Given the description of an element on the screen output the (x, y) to click on. 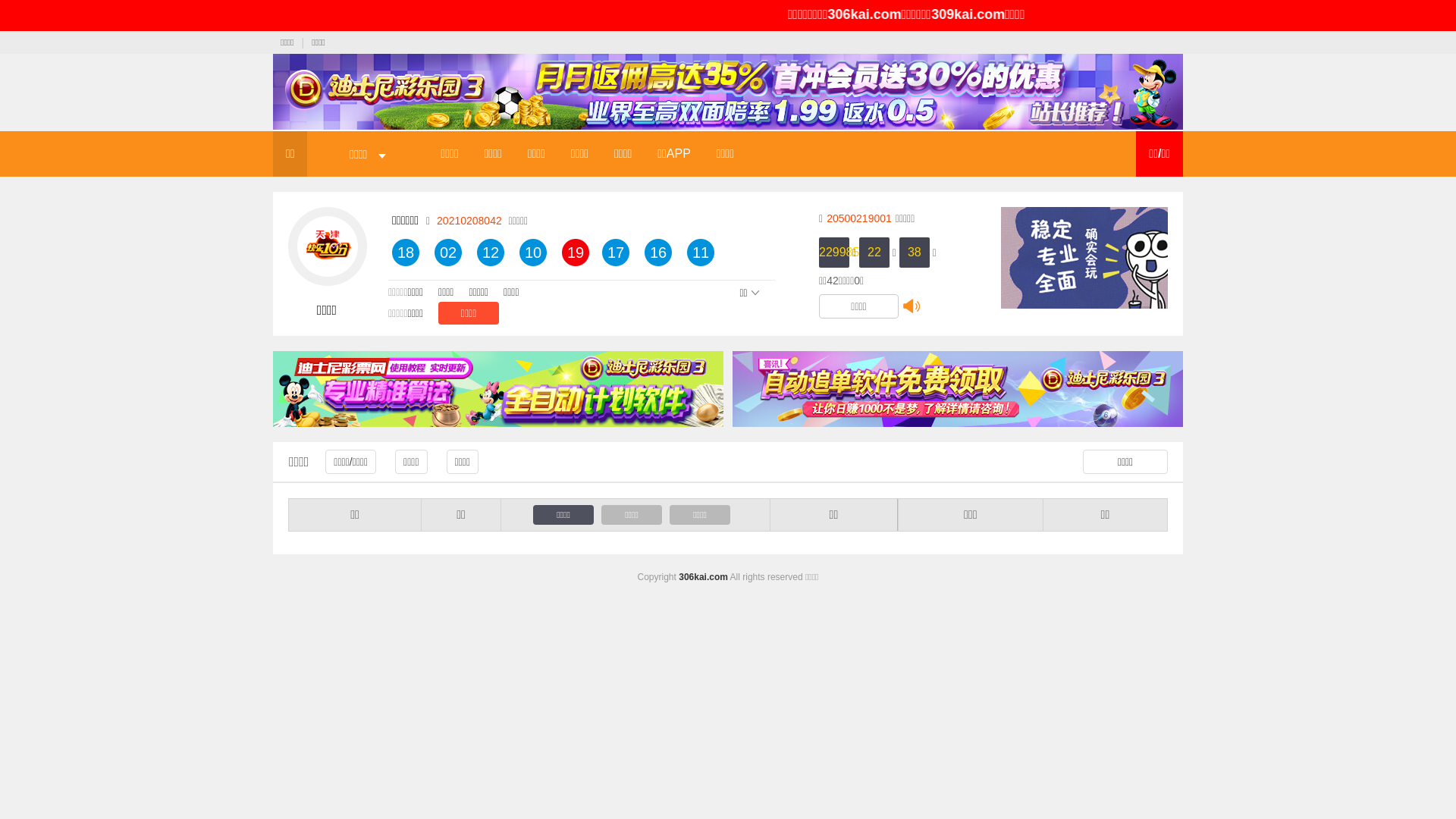
306kai.com Element type: text (703, 576)
306kai.com Element type: text (976, 13)
309kai.com Element type: text (1079, 13)
